Given the description of an element on the screen output the (x, y) to click on. 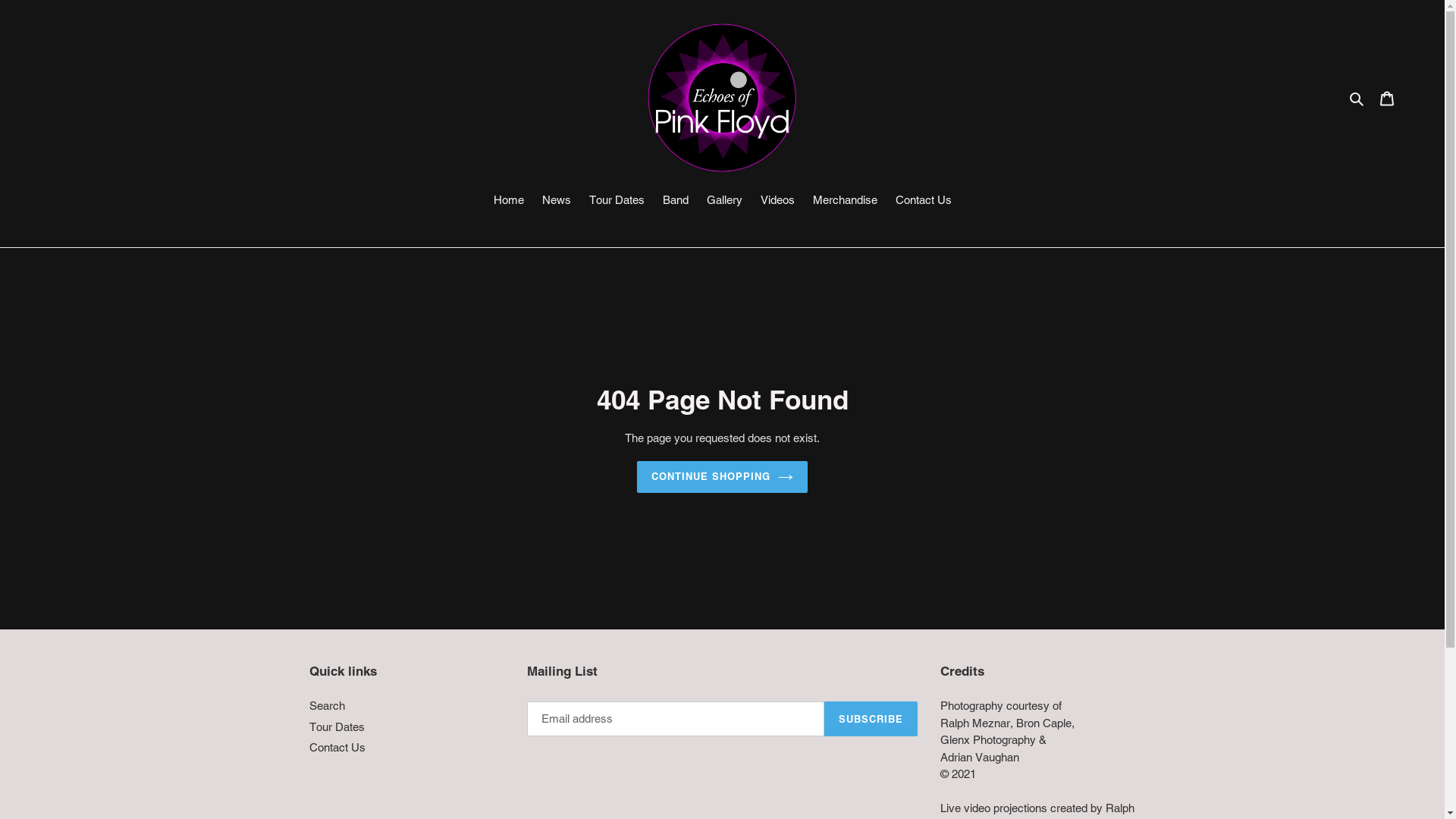
Tour Dates Element type: text (336, 726)
Cart Element type: text (1386, 97)
Contact Us Element type: text (337, 746)
SUBSCRIBE Element type: text (870, 718)
Home Element type: text (507, 201)
Merchandise Element type: text (844, 201)
CONTINUE SHOPPING Element type: text (722, 476)
Band Element type: text (675, 201)
Search Element type: text (327, 705)
Contact Us Element type: text (922, 201)
Videos Element type: text (776, 201)
Tour Dates Element type: text (615, 201)
Search Element type: text (1357, 97)
Gallery Element type: text (724, 201)
News Element type: text (555, 201)
